Given the description of an element on the screen output the (x, y) to click on. 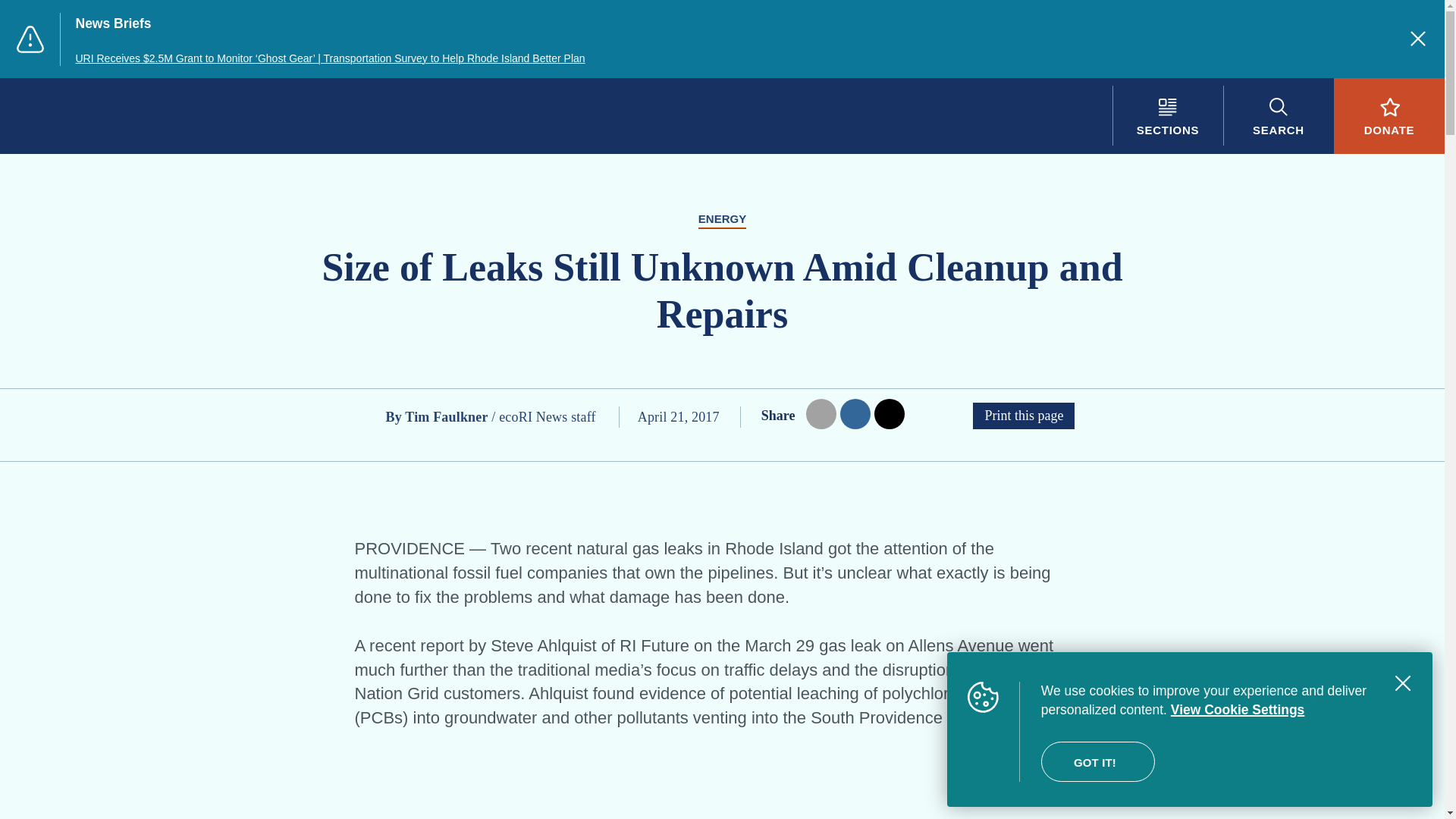
Search Button (1278, 115)
SECTIONS (1167, 115)
Close (1417, 38)
Close view (1402, 683)
Alert (29, 39)
